Given the description of an element on the screen output the (x, y) to click on. 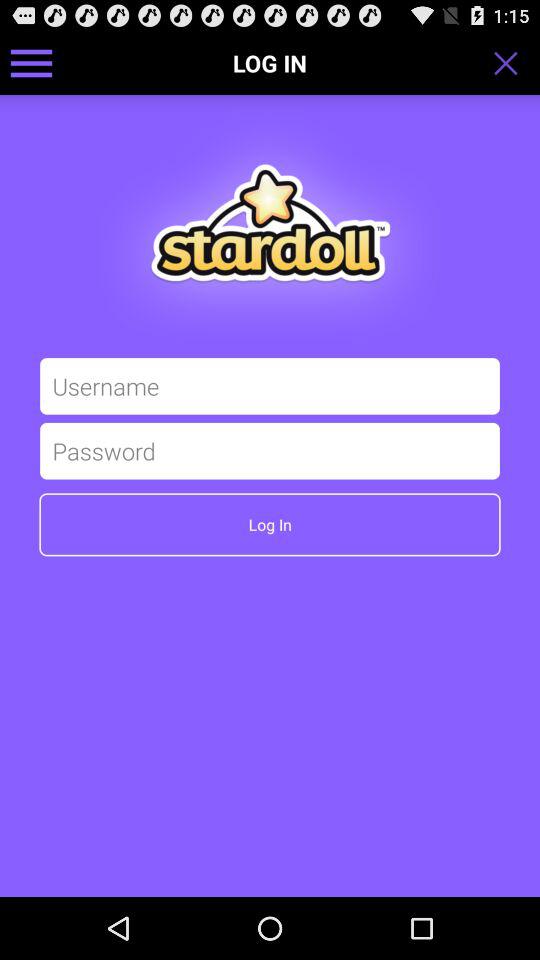
enter passowrd (269, 450)
